Given the description of an element on the screen output the (x, y) to click on. 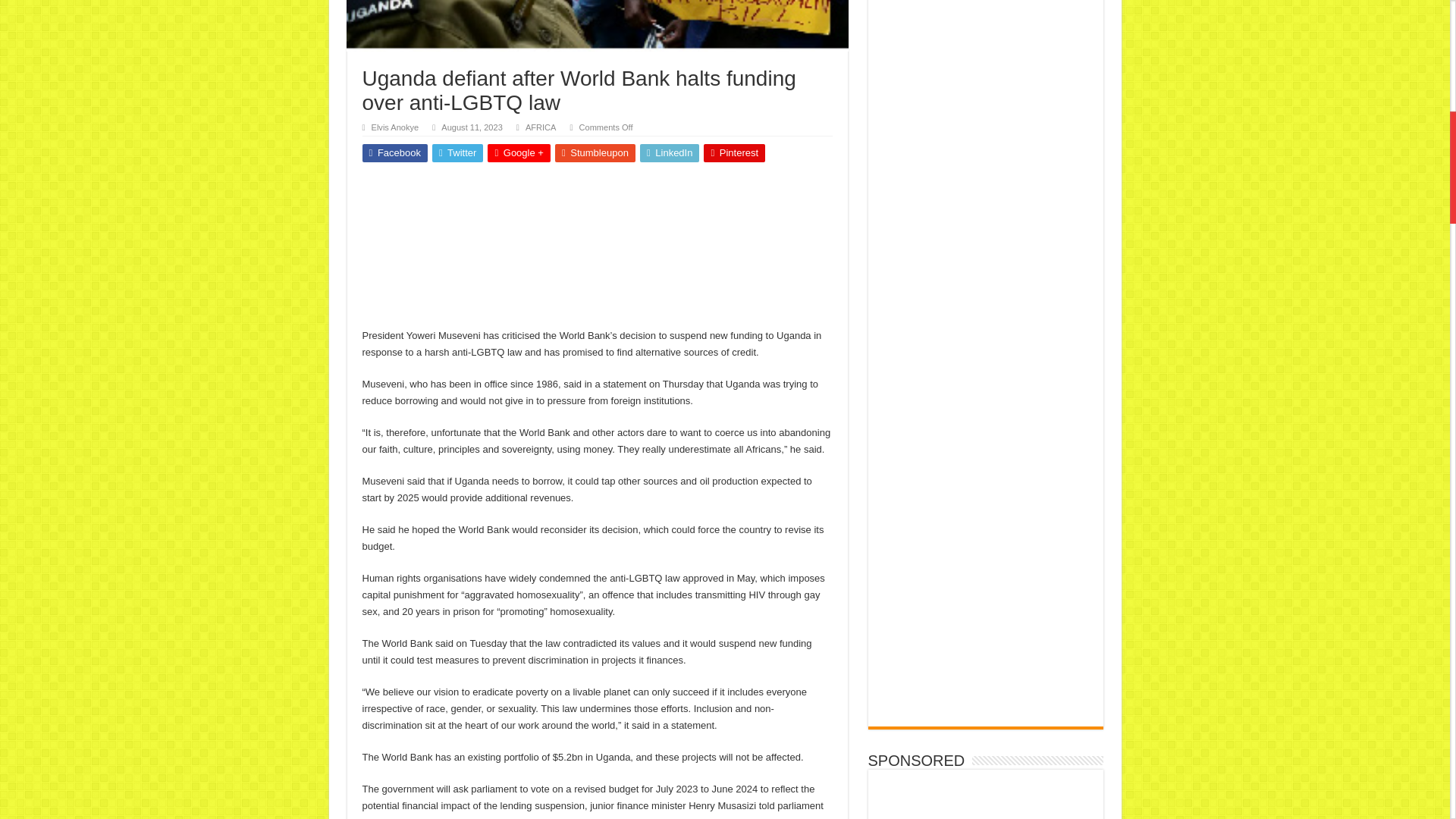
Twitter (457, 153)
Scroll To Top (1427, 60)
Facebook (395, 153)
AFRICA (540, 126)
Elvis Anokye (395, 126)
